Given the description of an element on the screen output the (x, y) to click on. 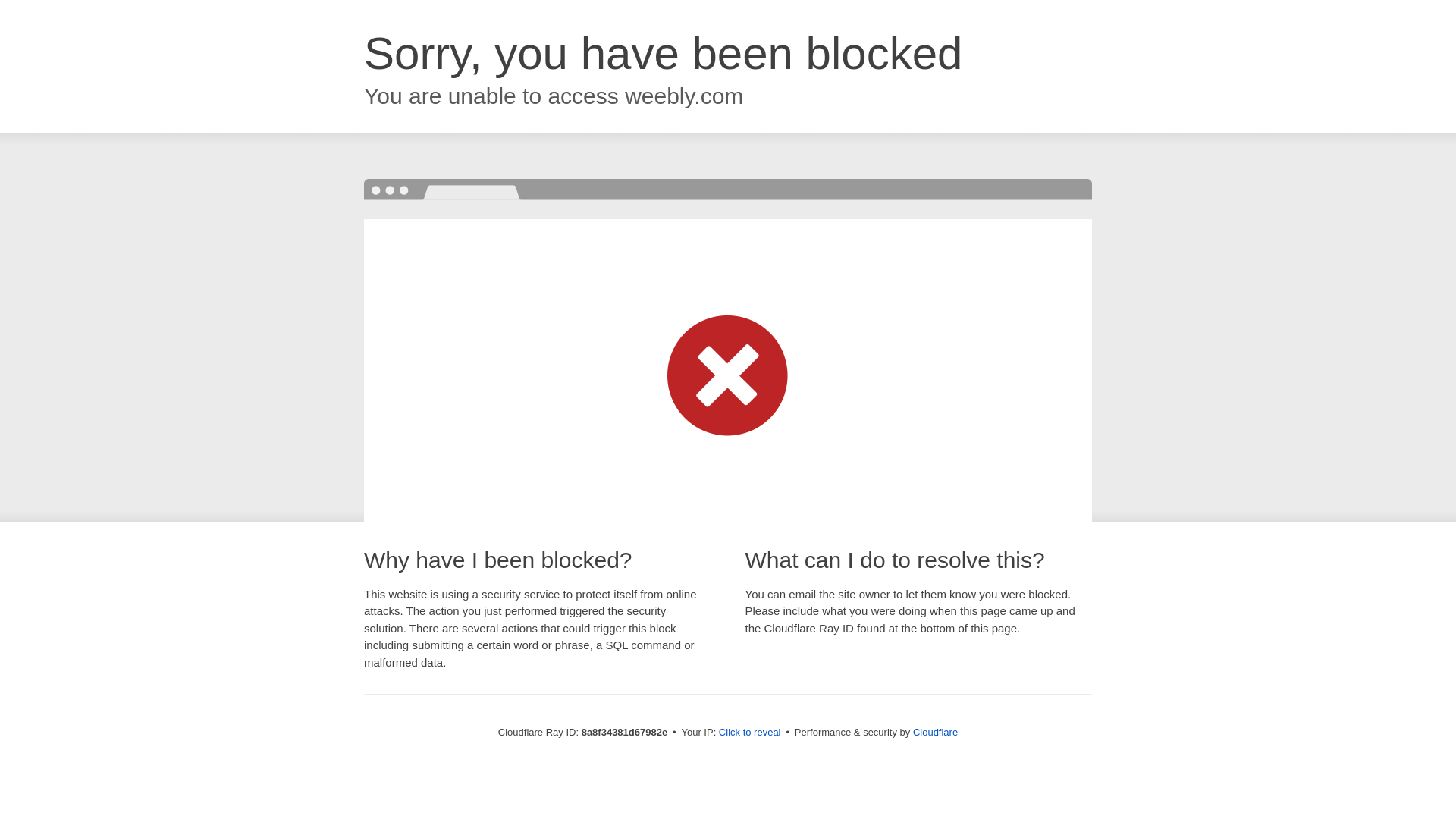
Click to reveal (749, 732)
Cloudflare (935, 731)
